Given the description of an element on the screen output the (x, y) to click on. 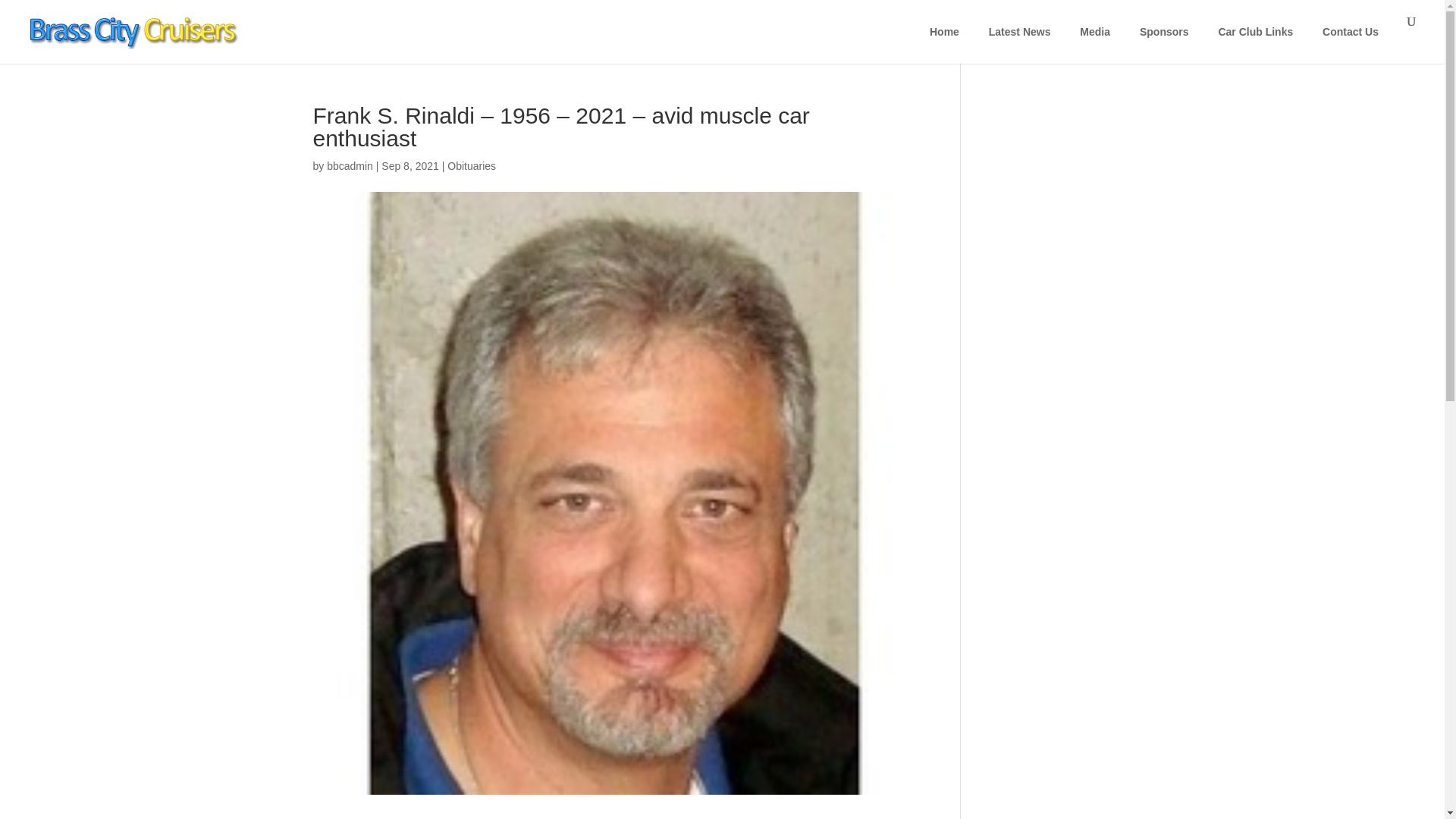
Obituaries (471, 165)
Car Club Links (1255, 31)
Contact Us (1350, 31)
Media (1094, 31)
Home (944, 31)
Latest News (1019, 31)
Sponsors (1163, 31)
bbcadmin (349, 165)
Posts by bbcadmin (349, 165)
